Given the description of an element on the screen output the (x, y) to click on. 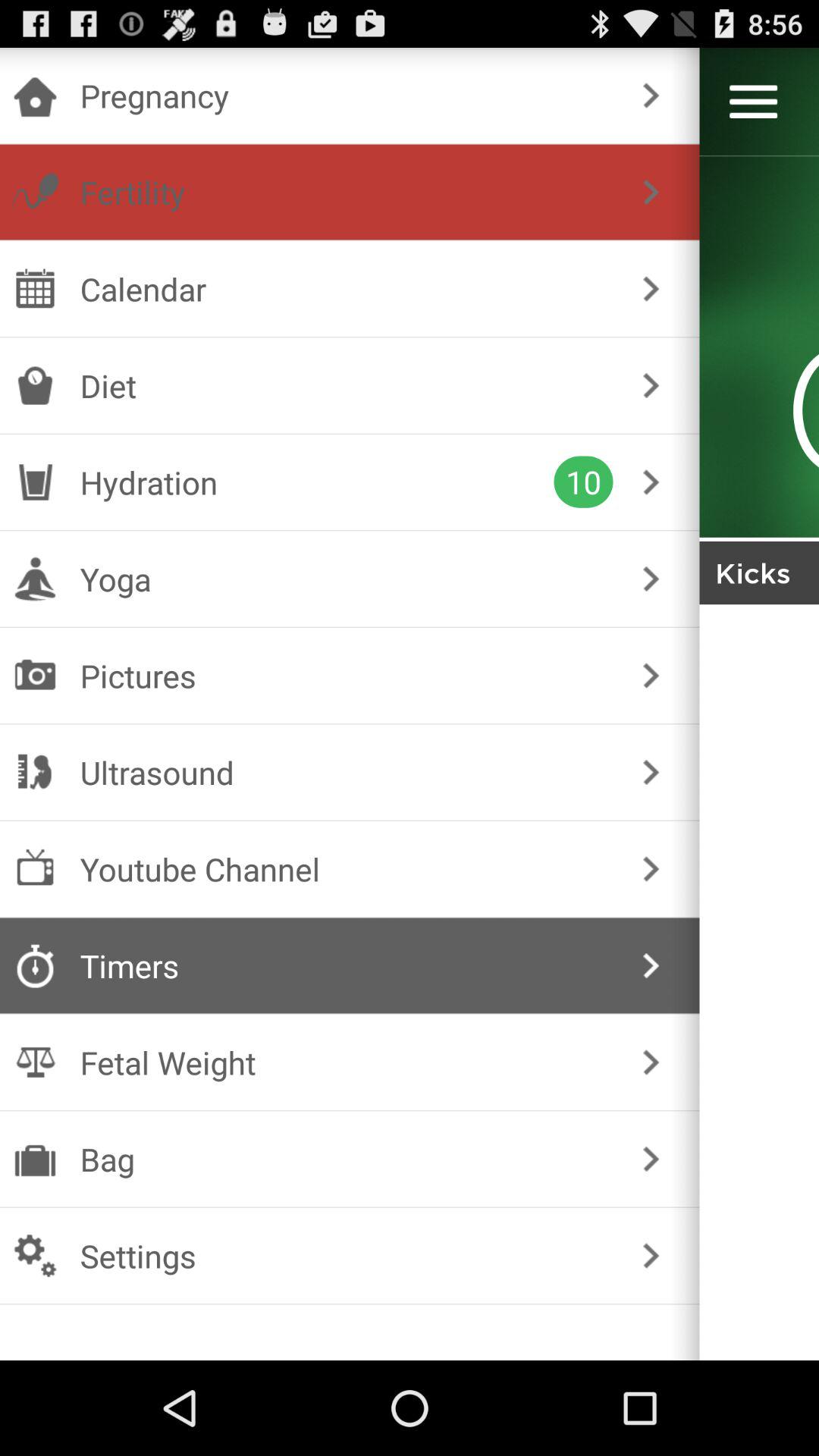
turn on the icon below fetal weight (346, 1158)
